Given the description of an element on the screen output the (x, y) to click on. 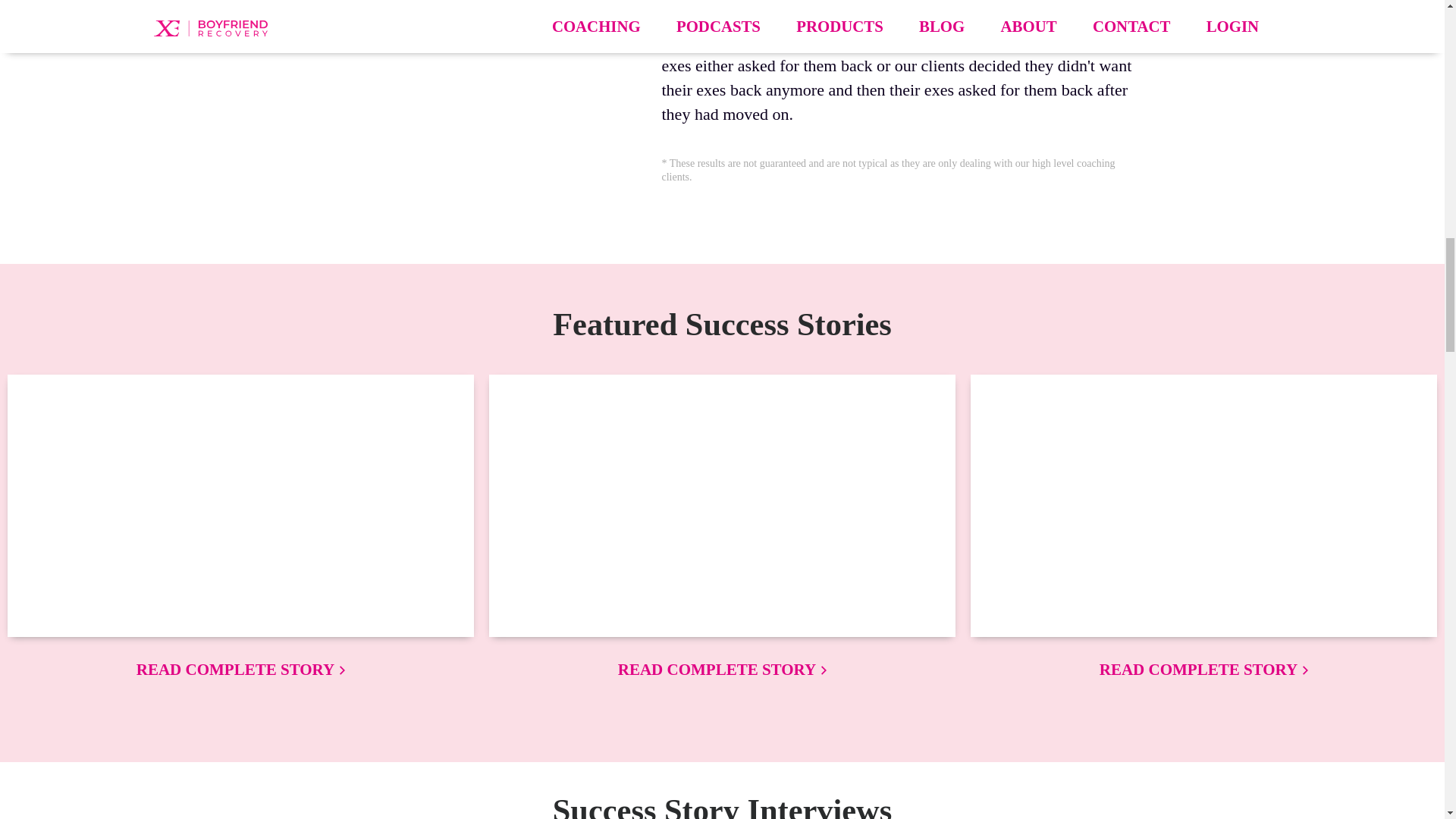
READ COMPLETE STORY (722, 669)
READ COMPLETE STORY (1203, 669)
READ COMPLETE STORY (240, 669)
